Given the description of an element on the screen output the (x, y) to click on. 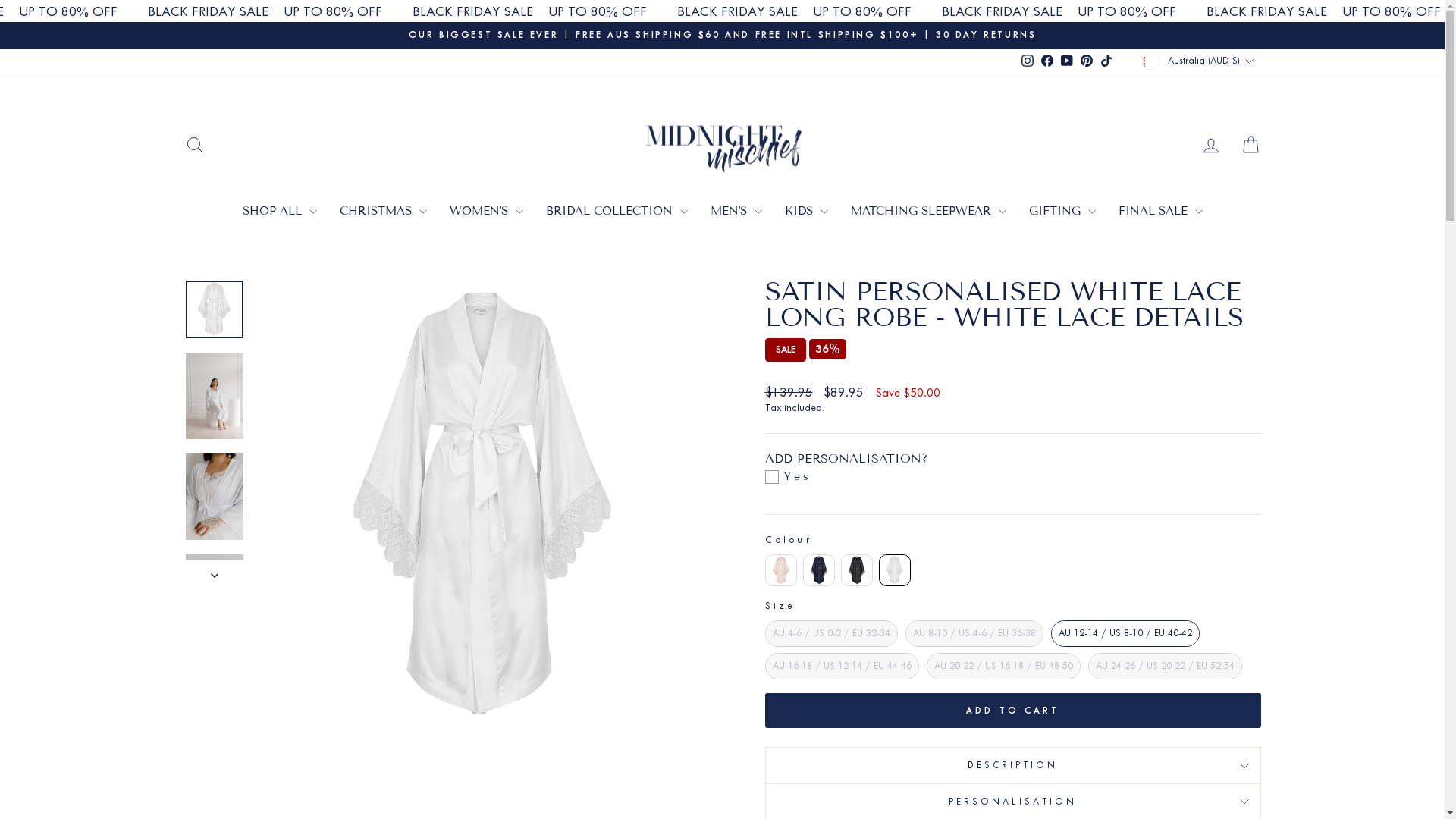
ICON-SEARCH
SEARCH Element type: text (193, 144)
Australia (AUD $) Element type: text (1199, 61)
ADD TO CART Element type: text (1012, 710)
TikTok Element type: text (1106, 61)
36% Element type: text (826, 348)
Facebook Element type: text (1047, 61)
icon-chevron Element type: text (213, 570)
instagram
Instagram Element type: text (1027, 61)
DESCRIPTION Element type: text (1012, 764)
Pinterest Element type: text (1086, 61)
SALE Element type: text (784, 349)
CART Element type: text (1249, 144)
ACCOUNT
LOG IN Element type: text (1210, 144)
YouTube Element type: text (1066, 61)
